Given the description of an element on the screen output the (x, y) to click on. 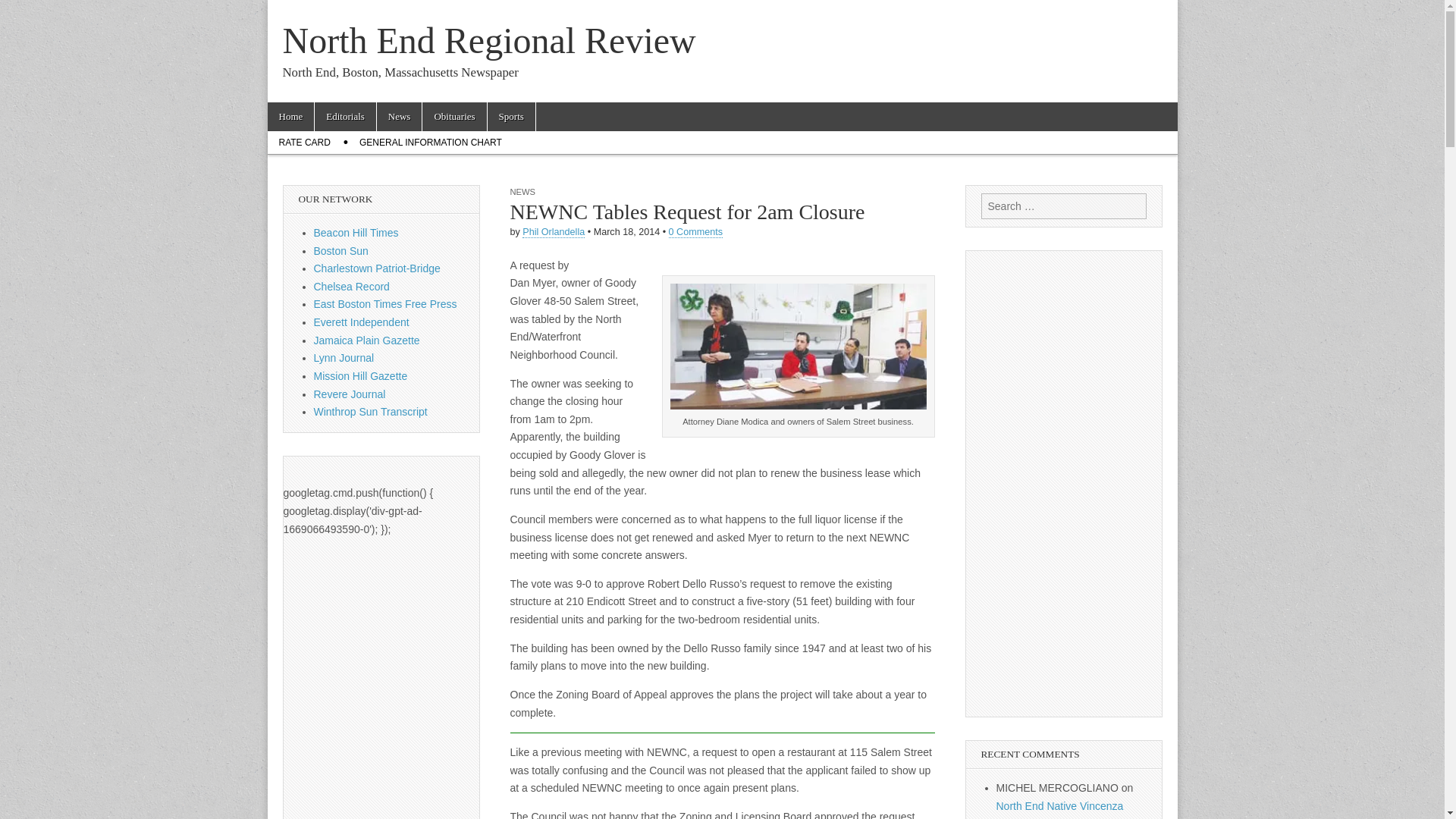
Mission Hill Gazette (360, 376)
Editorials (344, 116)
Beacon Hill Times (356, 232)
Chelsea Record (352, 286)
Sports (511, 116)
Obituaries (454, 116)
Everett Independent (361, 322)
North End Regional Review (488, 40)
RATE CARD (303, 142)
Phil Orlandella (553, 232)
News (399, 116)
North End Regional Review (488, 40)
Home (290, 116)
